Given the description of an element on the screen output the (x, y) to click on. 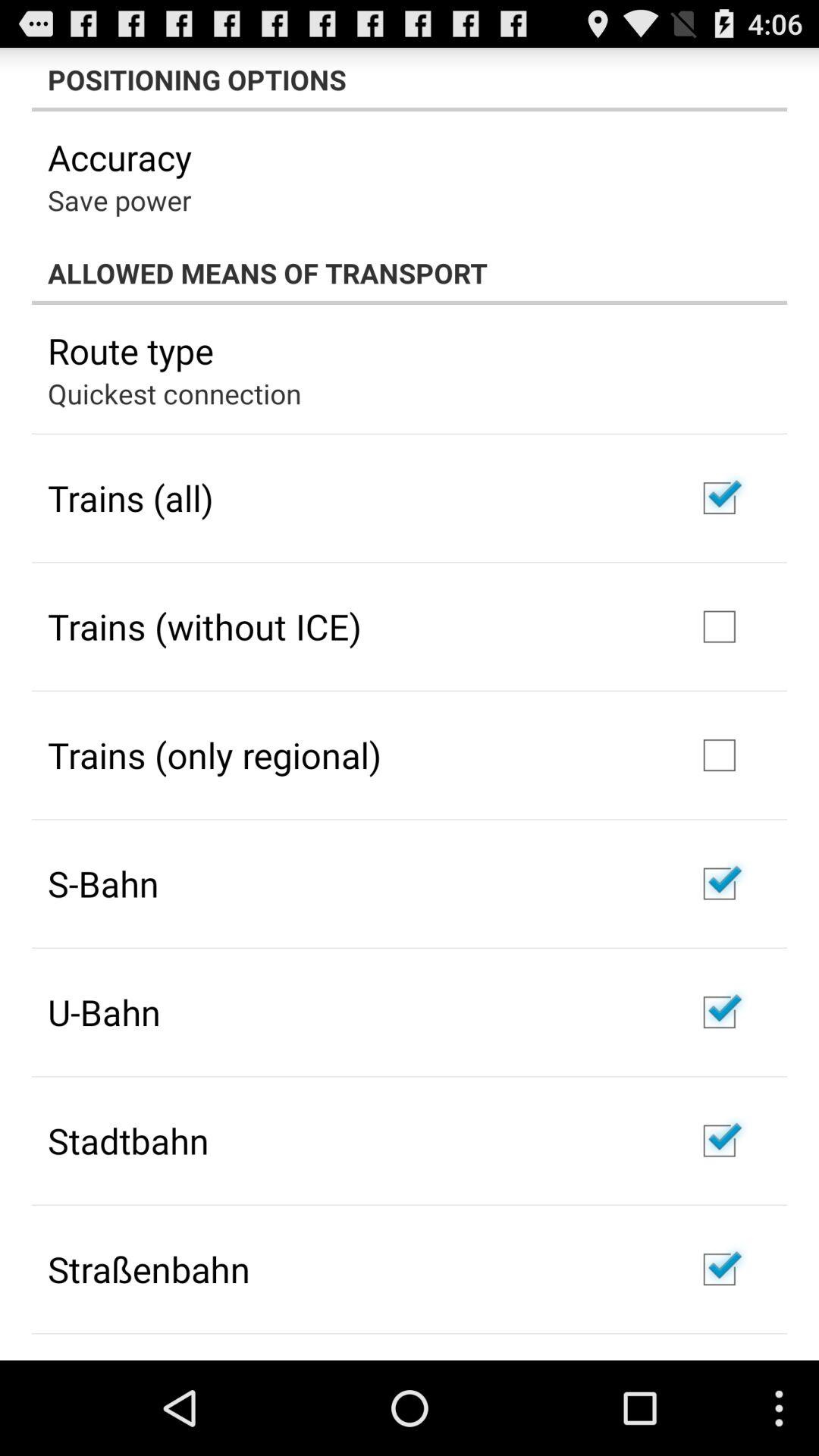
choose icon above the trains (only regional) item (204, 626)
